Given the description of an element on the screen output the (x, y) to click on. 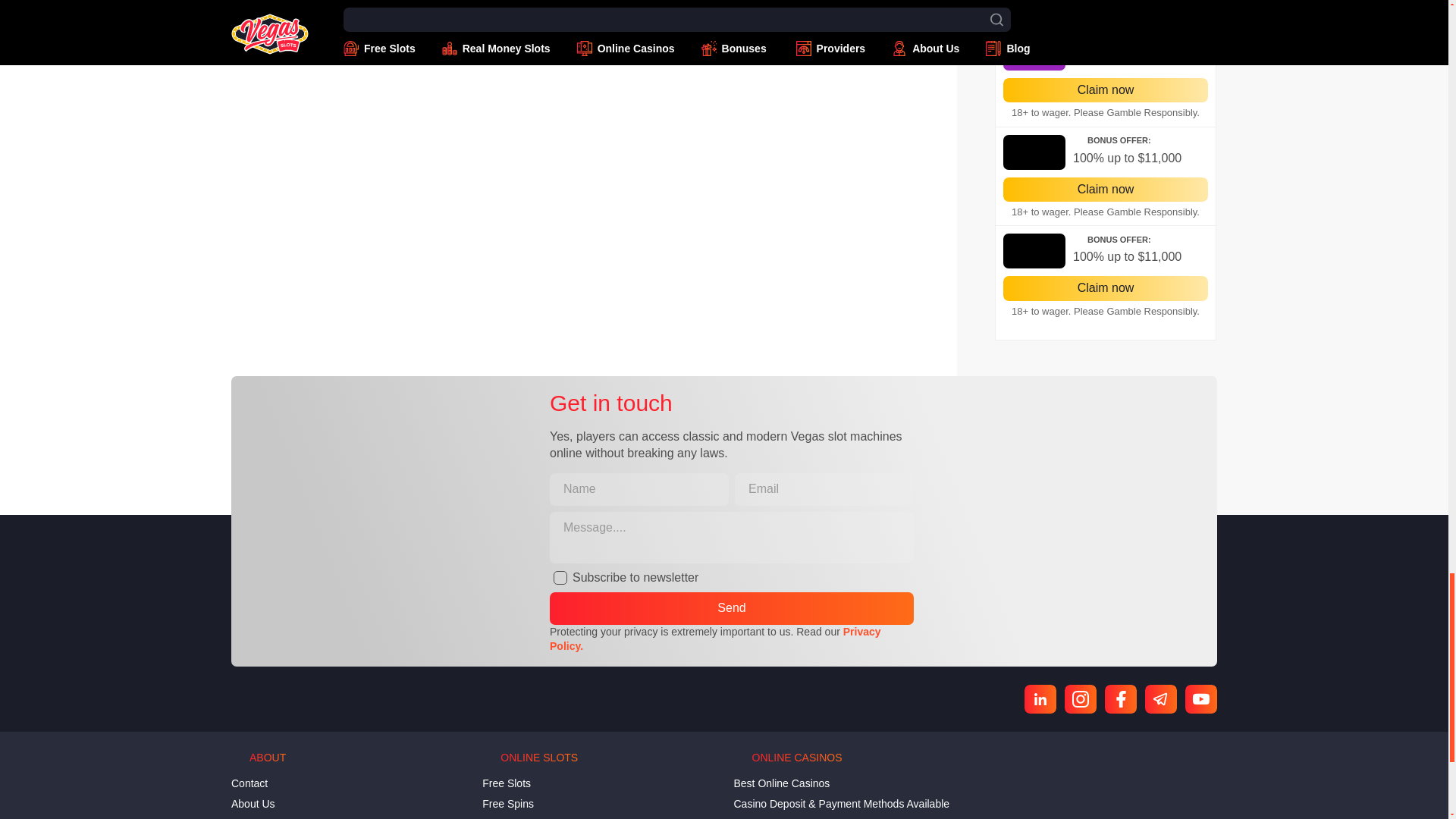
Send (732, 608)
